Given the description of an element on the screen output the (x, y) to click on. 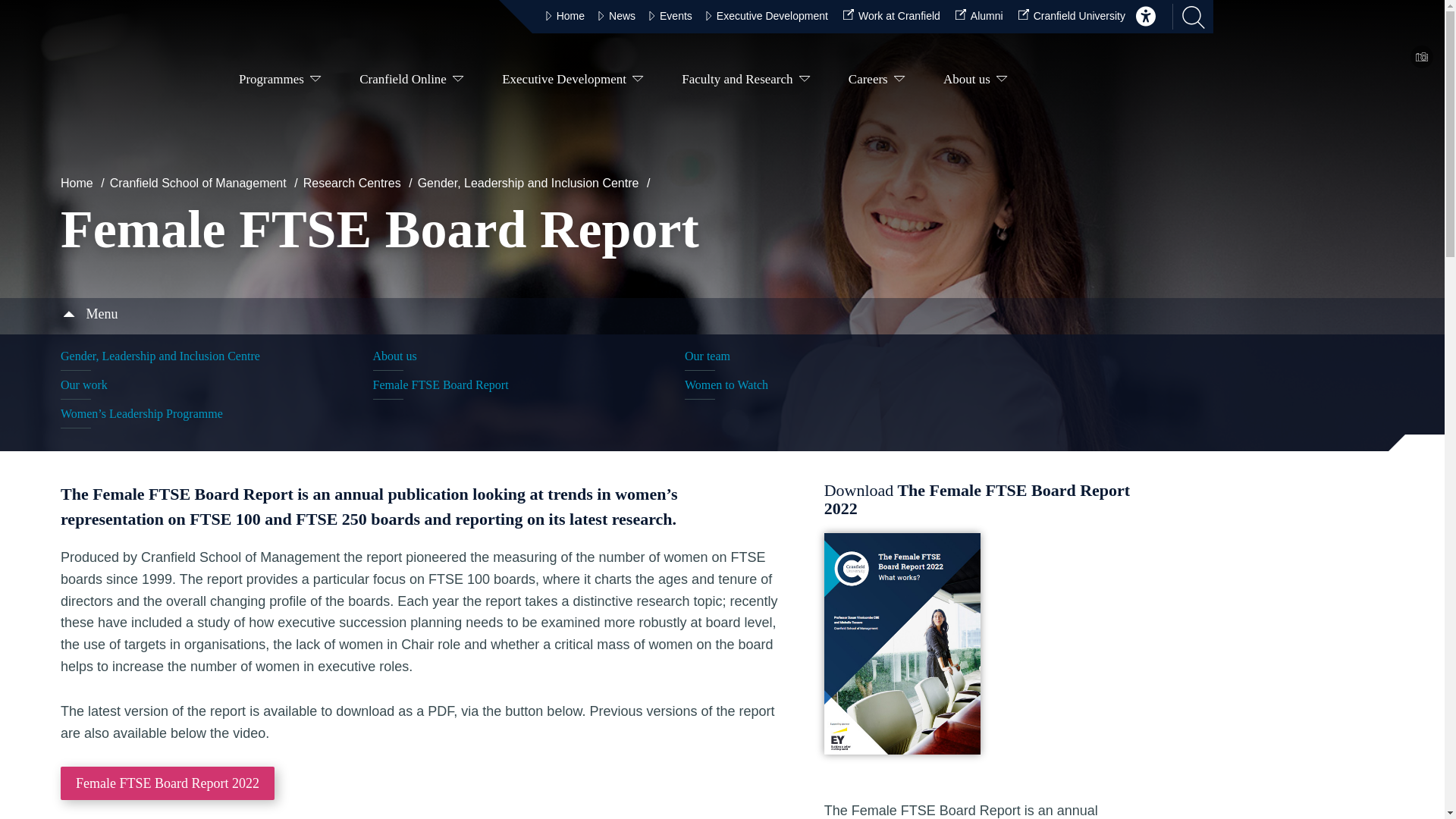
Cranfield Online (411, 81)
Faculty and Research (745, 81)
Executive Development (572, 81)
Return to Cranfield School of Management Home (125, 86)
Appliances (1421, 58)
Open Search Bar (1188, 16)
Programmes (280, 81)
